Given the description of an element on the screen output the (x, y) to click on. 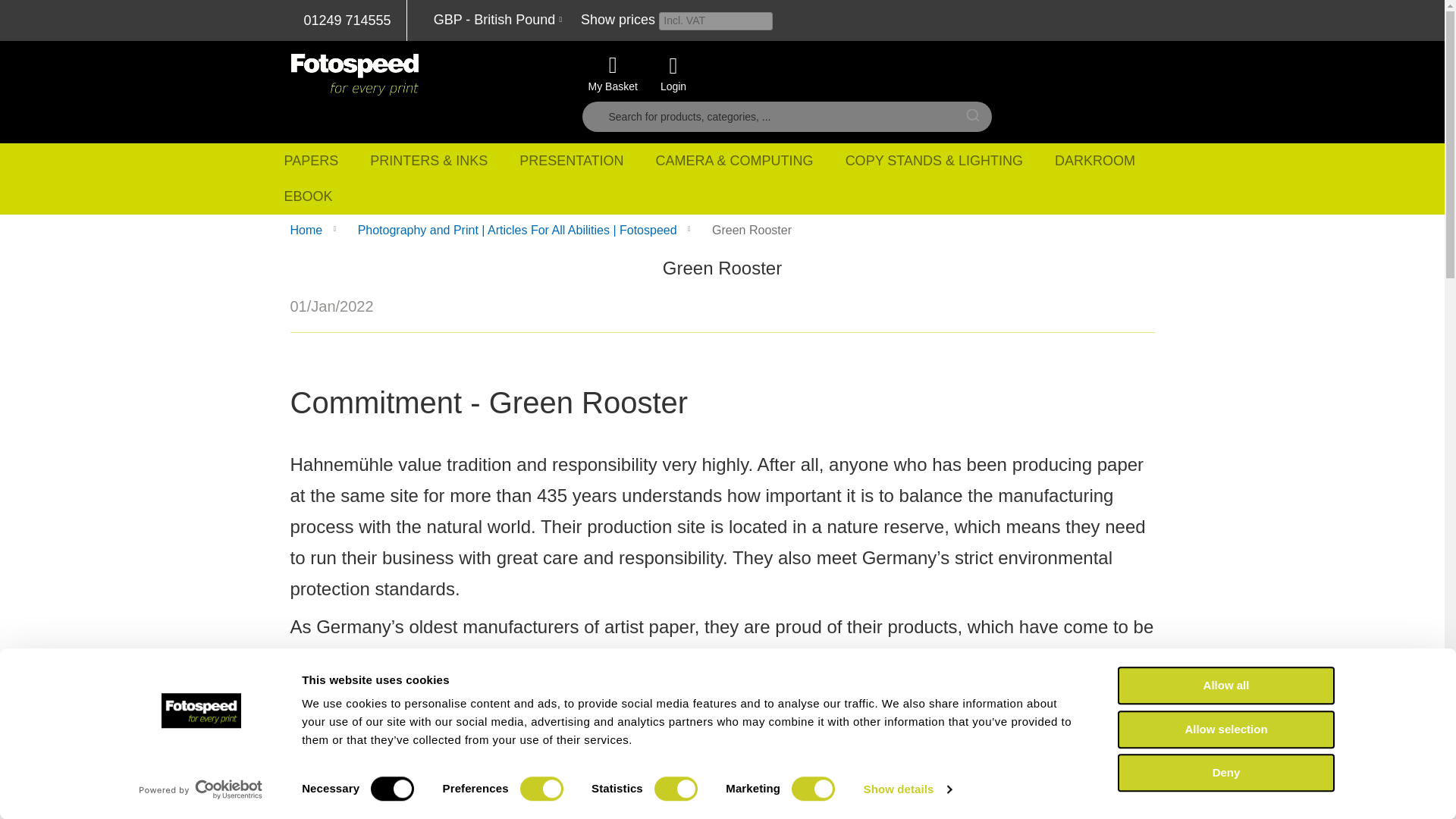
Show details (907, 789)
